Given the description of an element on the screen output the (x, y) to click on. 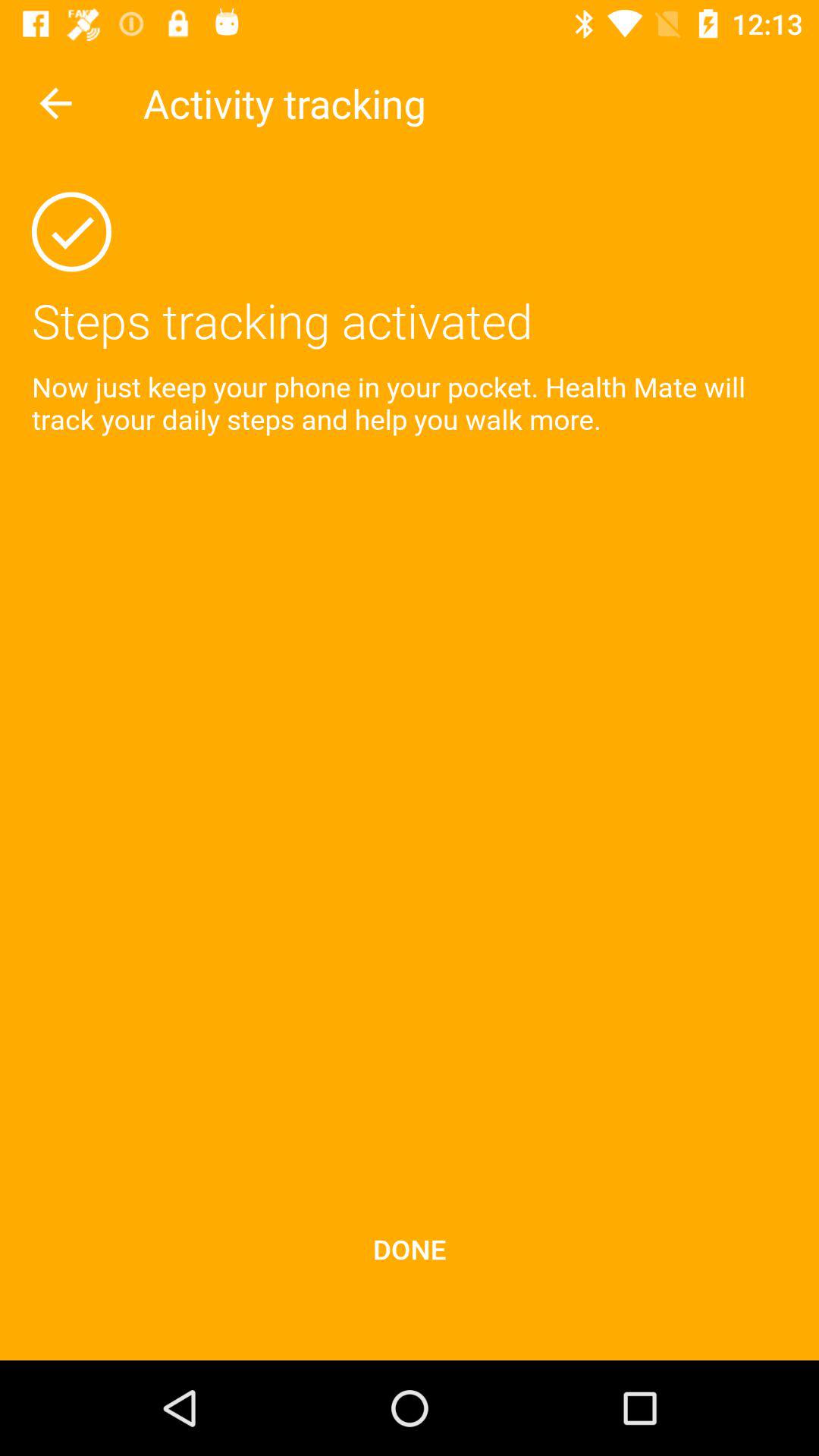
turn off the icon below now just keep item (409, 1248)
